Given the description of an element on the screen output the (x, y) to click on. 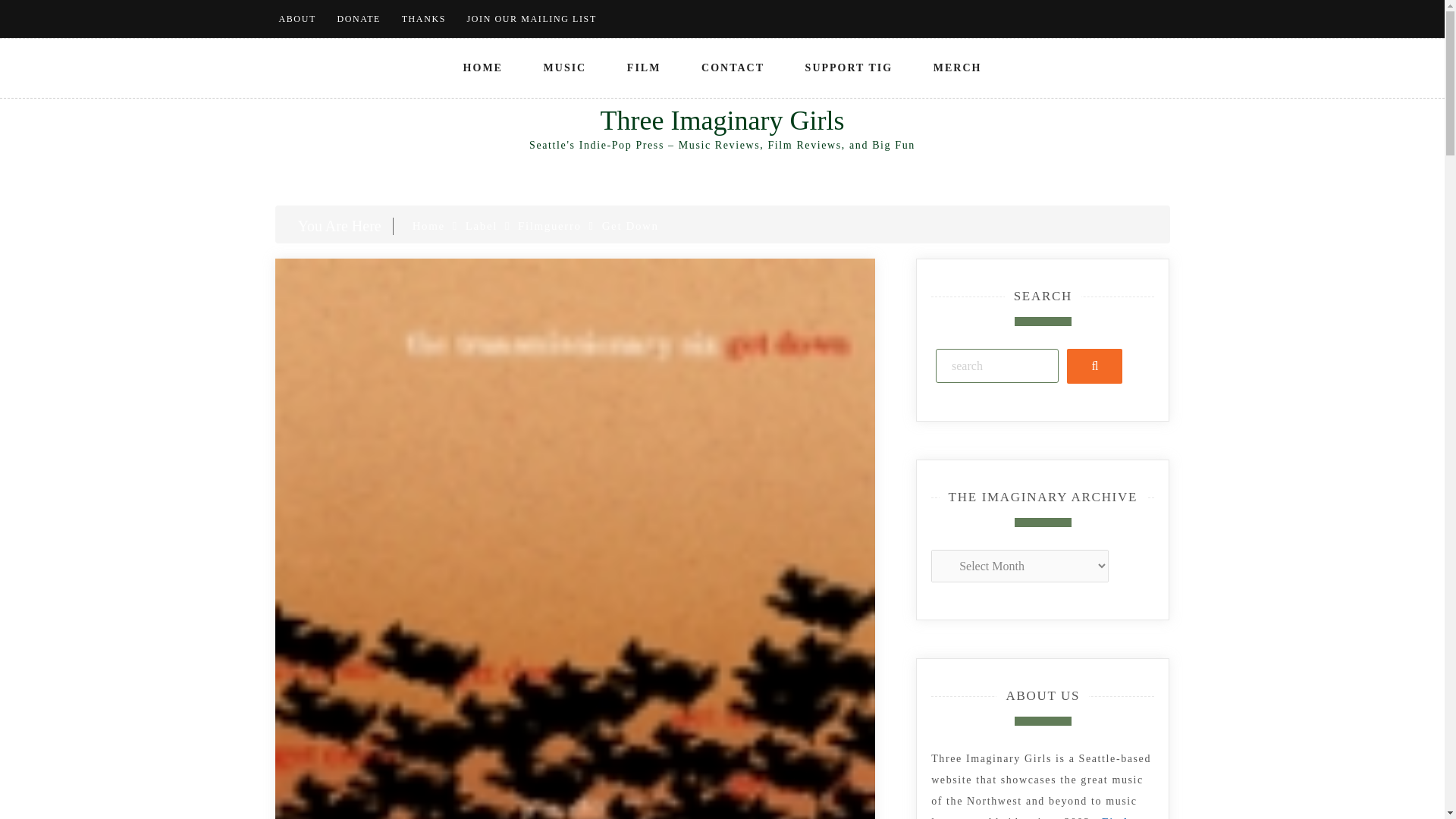
SUPPORT TIG (849, 67)
Home (428, 225)
Three Imaginary Girls (721, 120)
Label (481, 225)
JOIN OUR MAILING LIST (531, 18)
DONATE (358, 18)
THANKS (423, 18)
FILM (643, 67)
MERCH (957, 67)
ABOUT (297, 18)
HOME (483, 67)
MUSIC (565, 67)
CONTACT (732, 67)
